Given the description of an element on the screen output the (x, y) to click on. 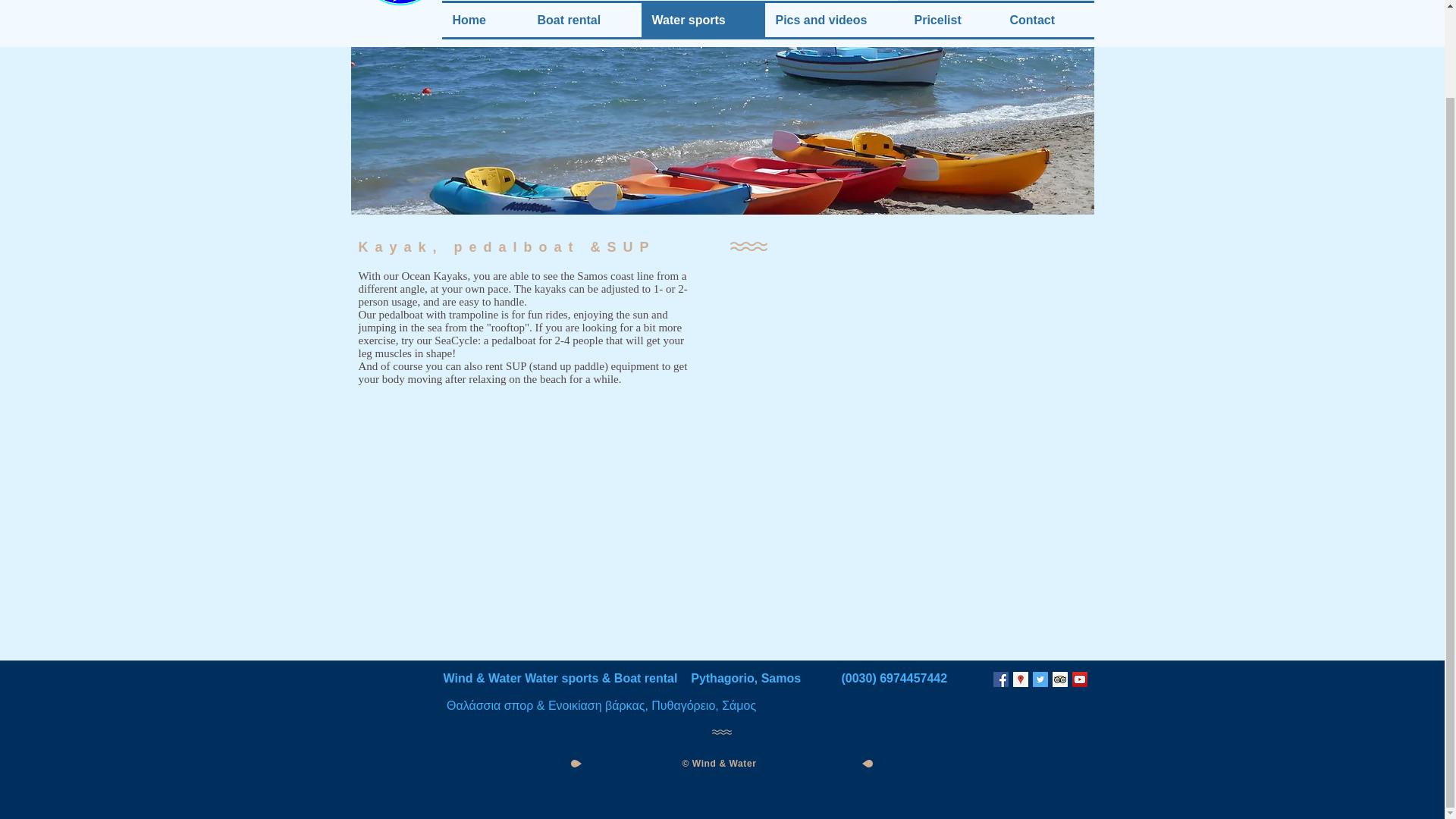
Boat rental (582, 19)
Contact (1046, 19)
Home (483, 19)
Water sports (703, 19)
Pricelist (951, 19)
Pics and videos (833, 19)
